Given the description of an element on the screen output the (x, y) to click on. 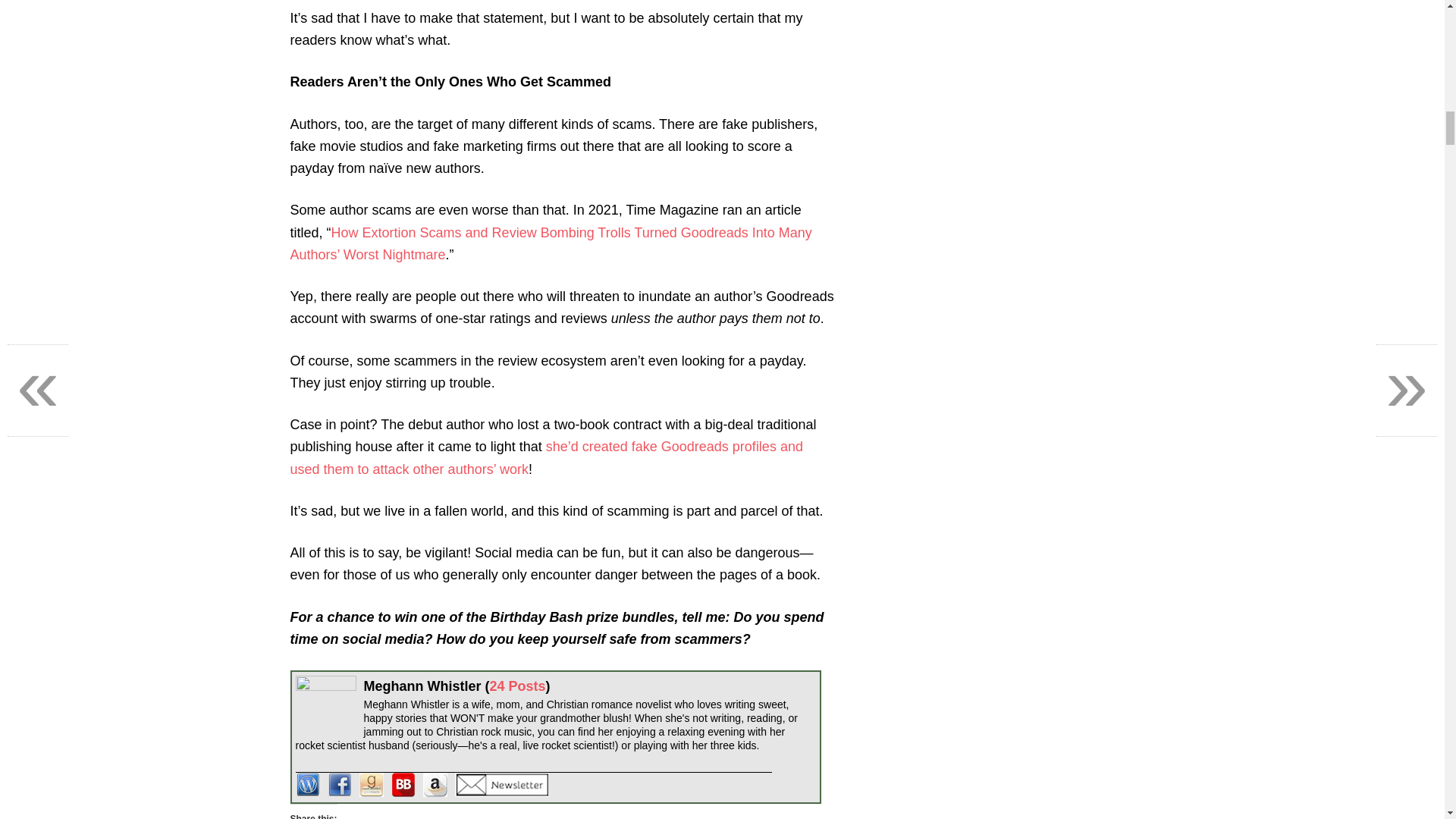
24 Posts (517, 685)
